Given the description of an element on the screen output the (x, y) to click on. 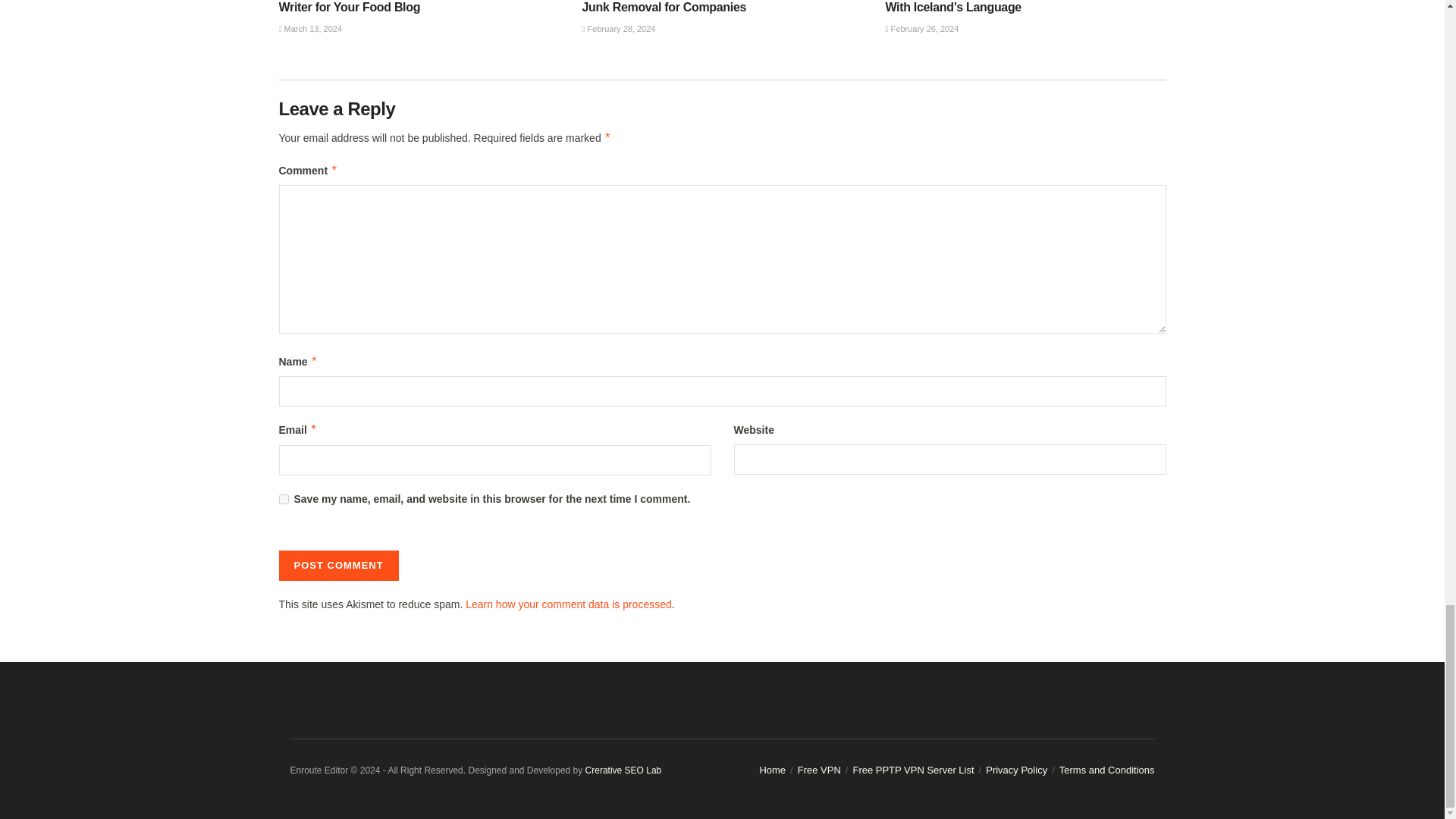
Post Comment (338, 565)
yes (283, 499)
